Given the description of an element on the screen output the (x, y) to click on. 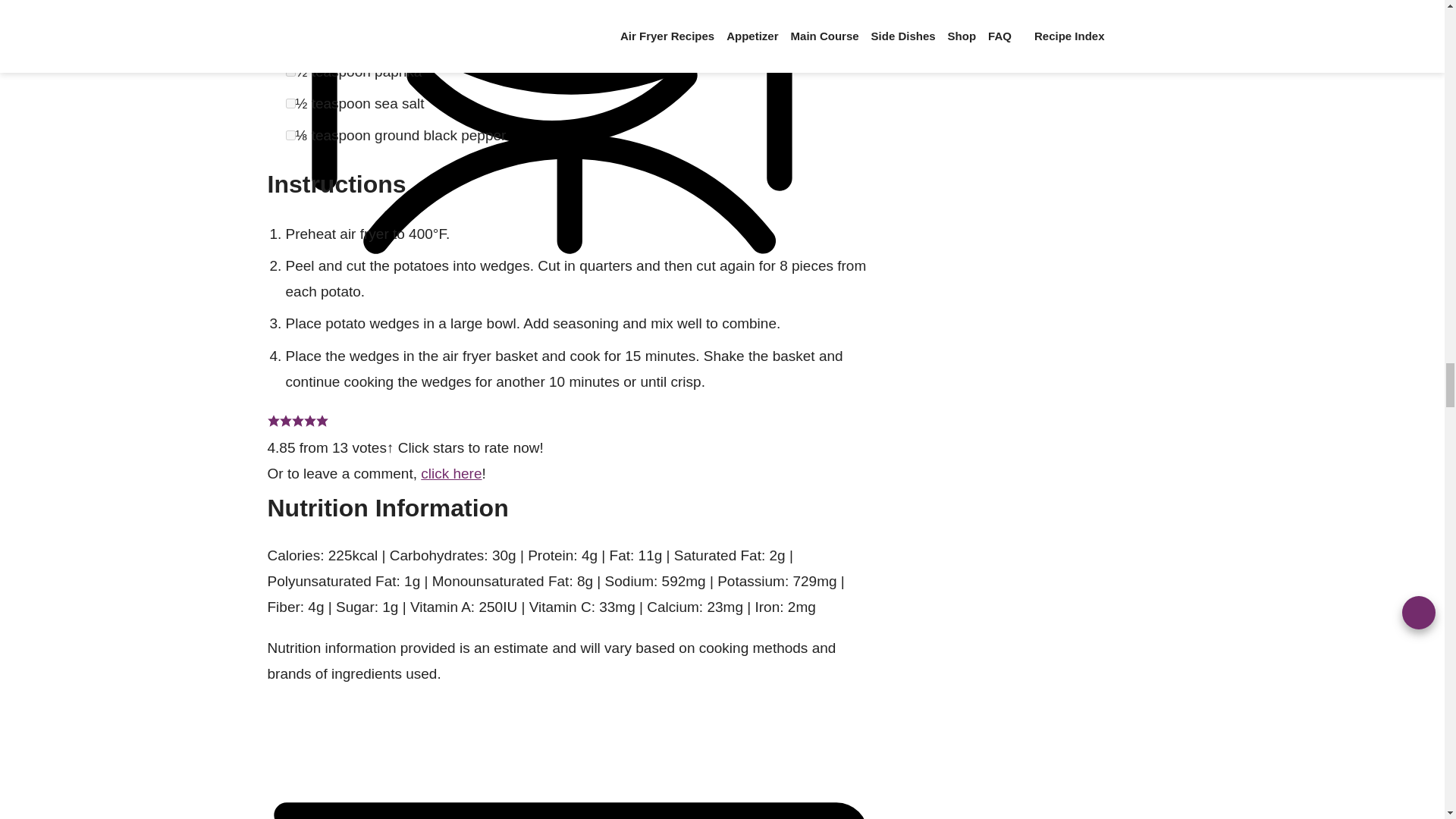
on (290, 135)
on (290, 71)
on (290, 39)
on (290, 7)
on (290, 103)
